Given the description of an element on the screen output the (x, y) to click on. 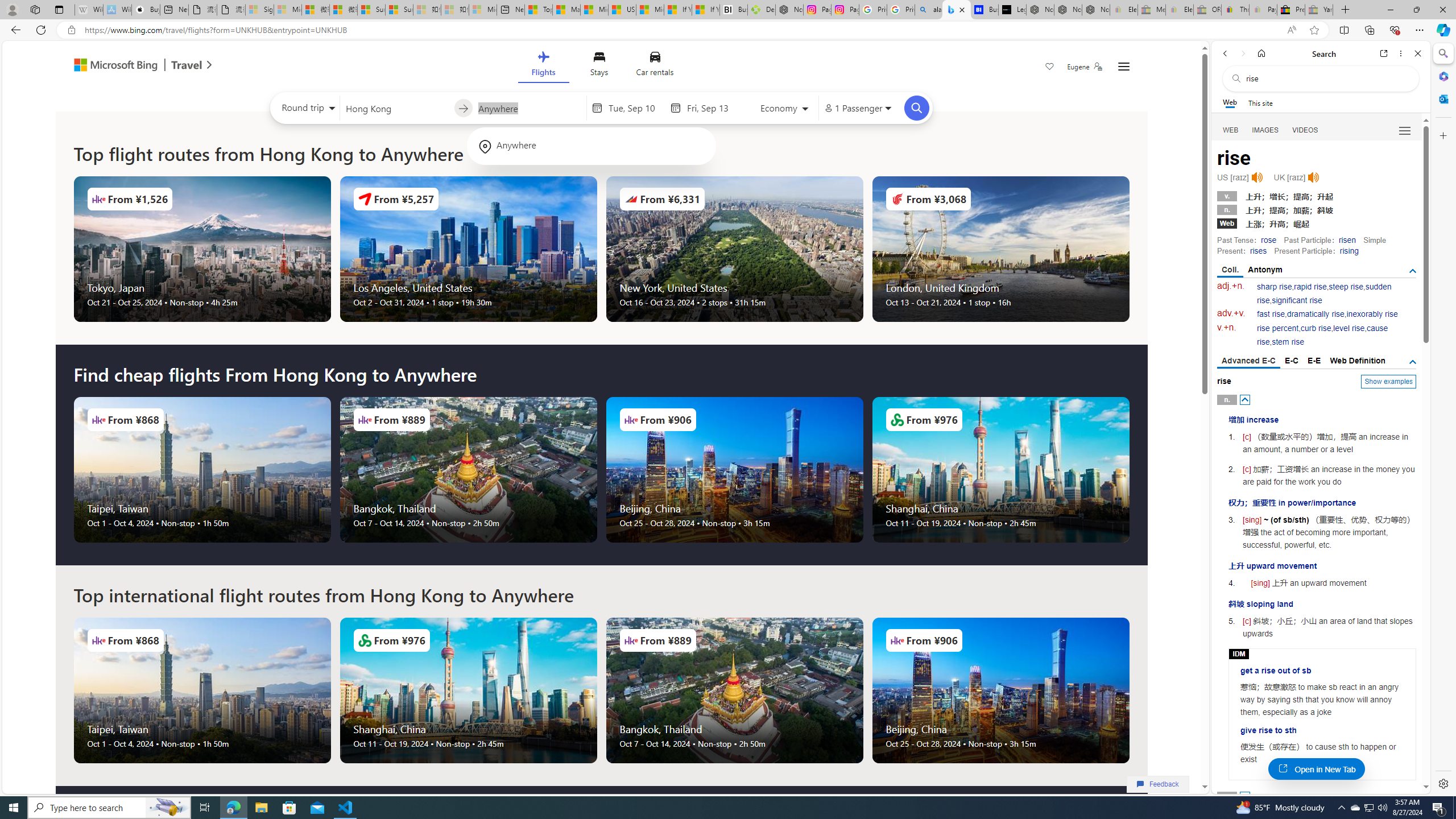
AutomationID: posbtn_0 (1245, 399)
Save (1049, 67)
End date (713, 107)
Eugene (1084, 66)
Microsoft Bing Travel (130, 65)
Stays (598, 65)
Click to listen (1313, 177)
Microsoft Bing Travel - Flights (956, 9)
